Given the description of an element on the screen output the (x, y) to click on. 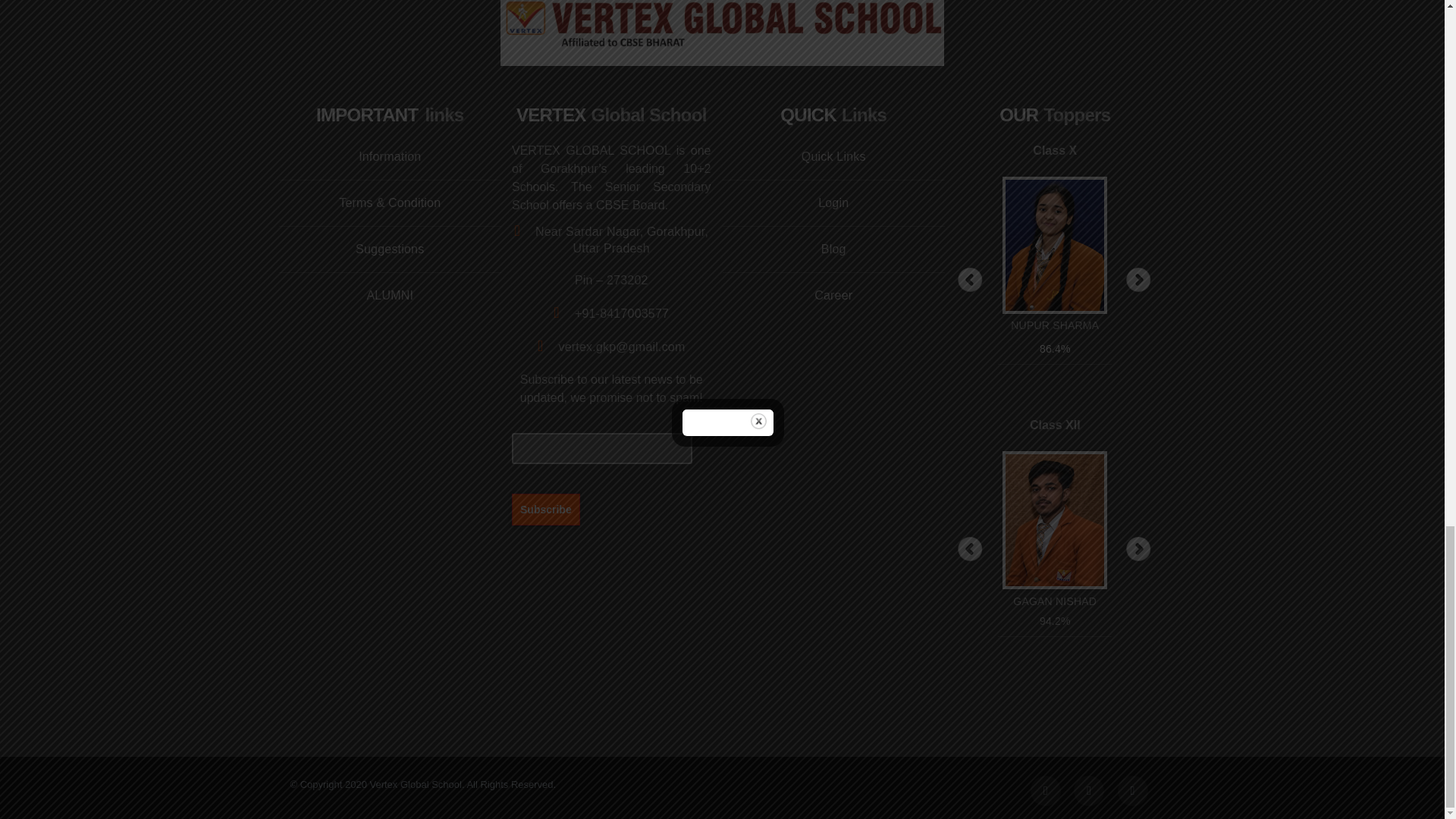
Subscribe (545, 508)
